Given the description of an element on the screen output the (x, y) to click on. 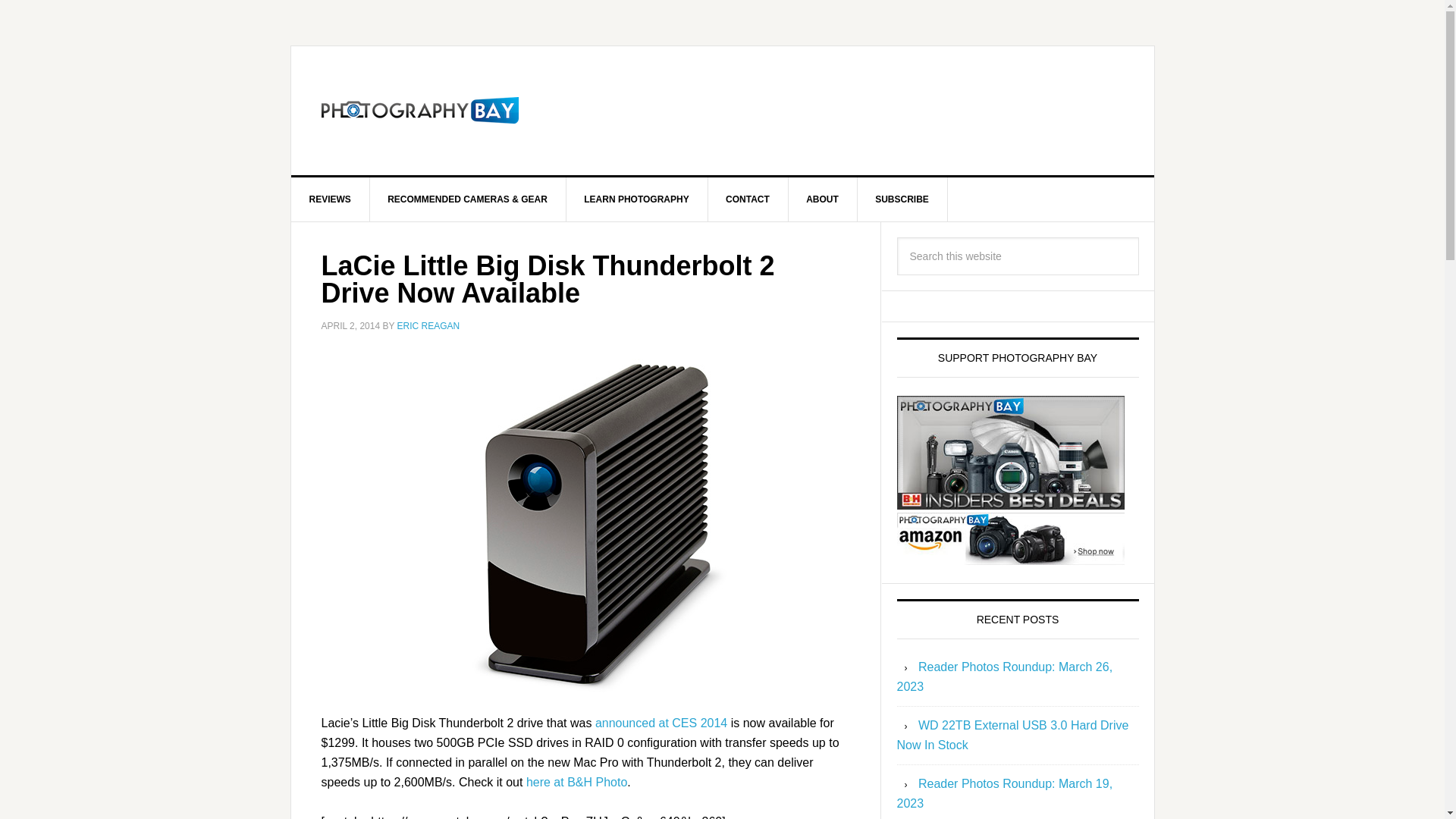
PHOTOGRAPHY BAY (419, 110)
ABOUT (822, 199)
CONTACT (748, 199)
REVIEWS (330, 199)
announced at CES 2014 (660, 721)
LaCie Little Big Disk Thunderbolt 2 Drive Now Available (547, 279)
SUBSCRIBE (902, 199)
